Given the description of an element on the screen output the (x, y) to click on. 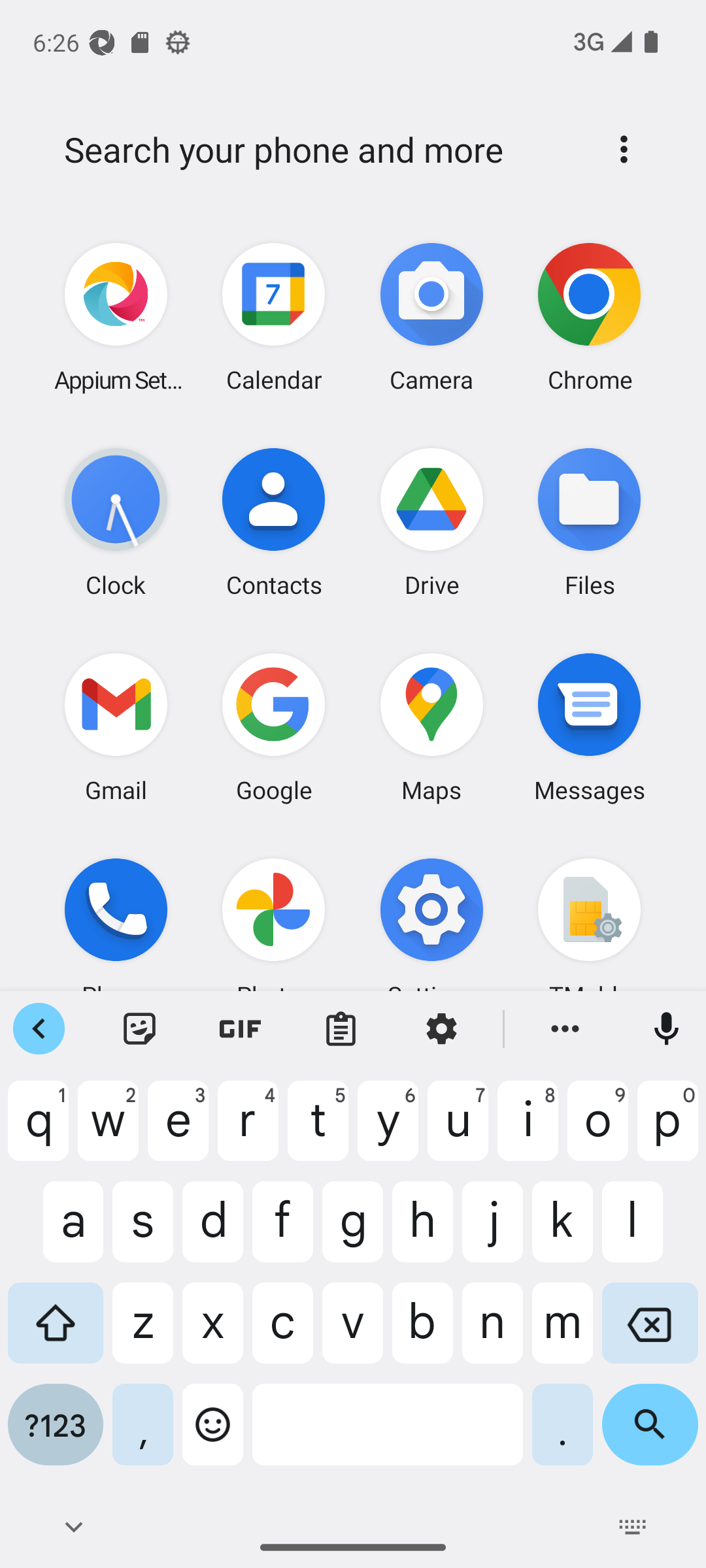
Search your phone and more (321, 149)
Preferences (623, 149)
Appium Settings (115, 317)
Calendar (273, 317)
Camera (431, 317)
Chrome (589, 317)
Clock (115, 522)
Contacts (273, 522)
Drive (431, 522)
Files (589, 522)
Gmail (115, 726)
Google (273, 726)
Maps (431, 726)
Messages (589, 726)
Phone (115, 931)
Photos (273, 931)
Settings (431, 931)
TMoble (589, 931)
